Given the description of an element on the screen output the (x, y) to click on. 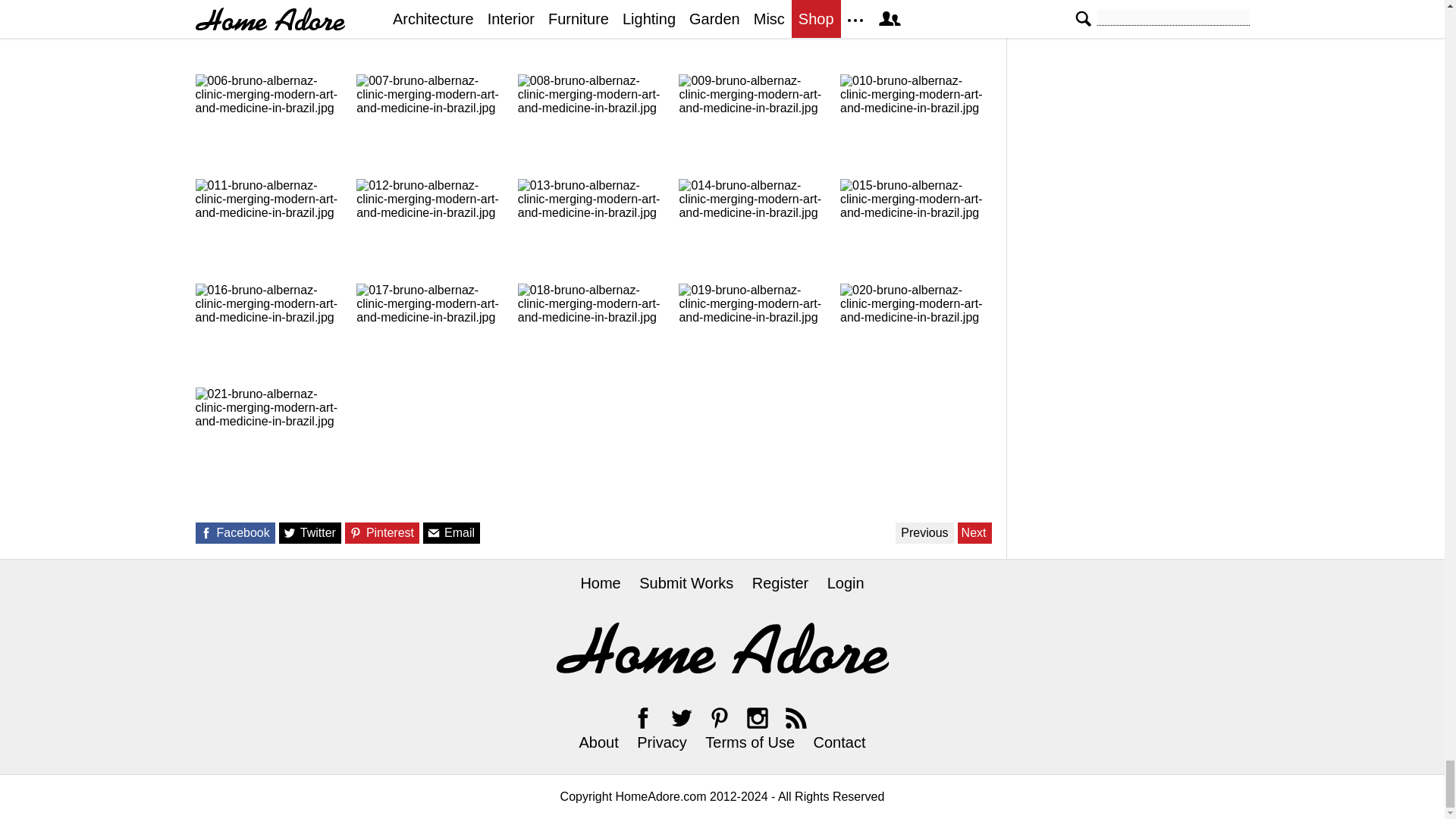
Facebook (643, 718)
Share on Facebook (205, 532)
Share on Pinterest (355, 532)
Share with a Friend (433, 532)
Share on Twitter (289, 532)
HomeAdore (722, 648)
Twitter (681, 718)
